Given the description of an element on the screen output the (x, y) to click on. 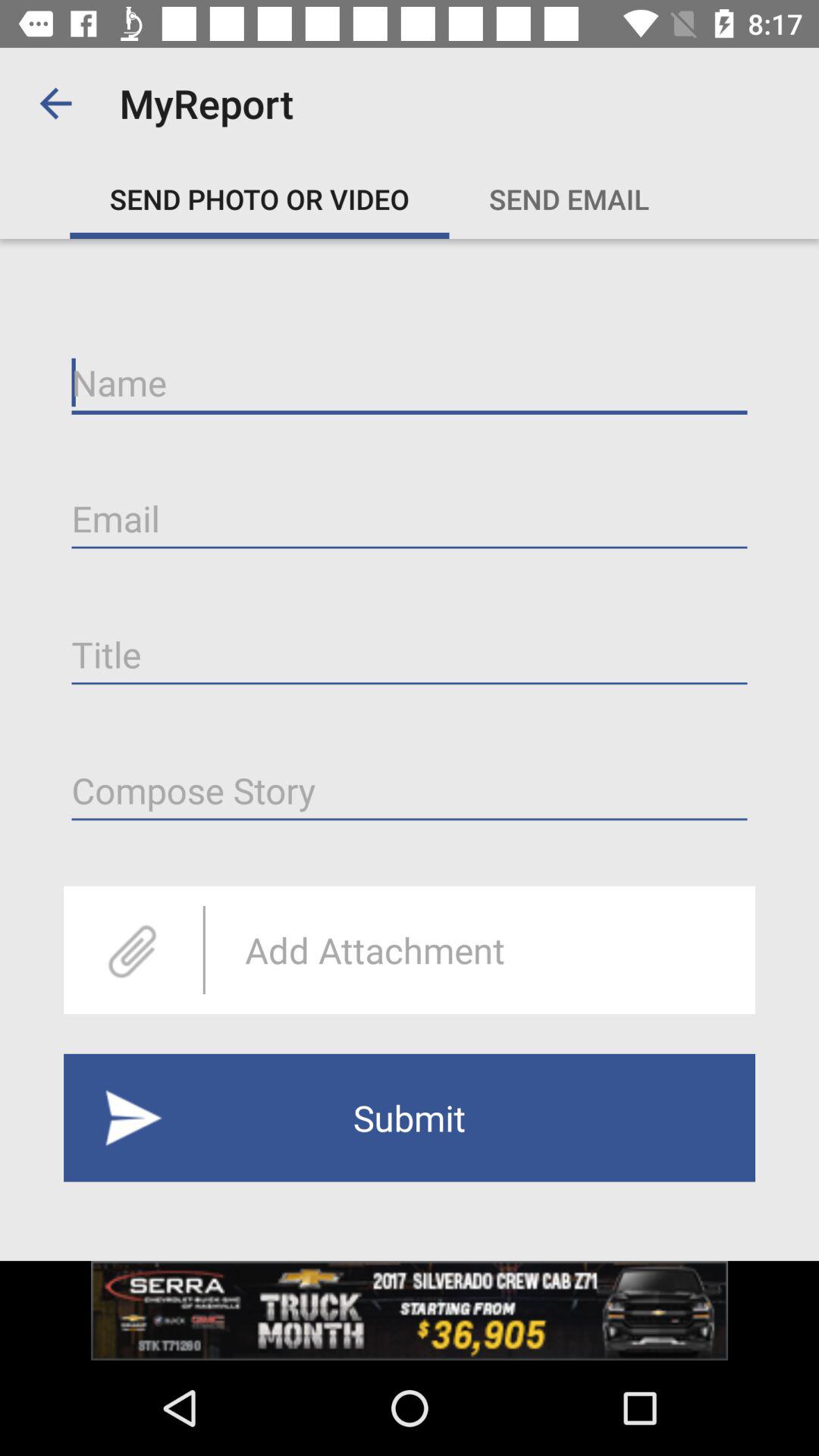
enter value (409, 791)
